Given the description of an element on the screen output the (x, y) to click on. 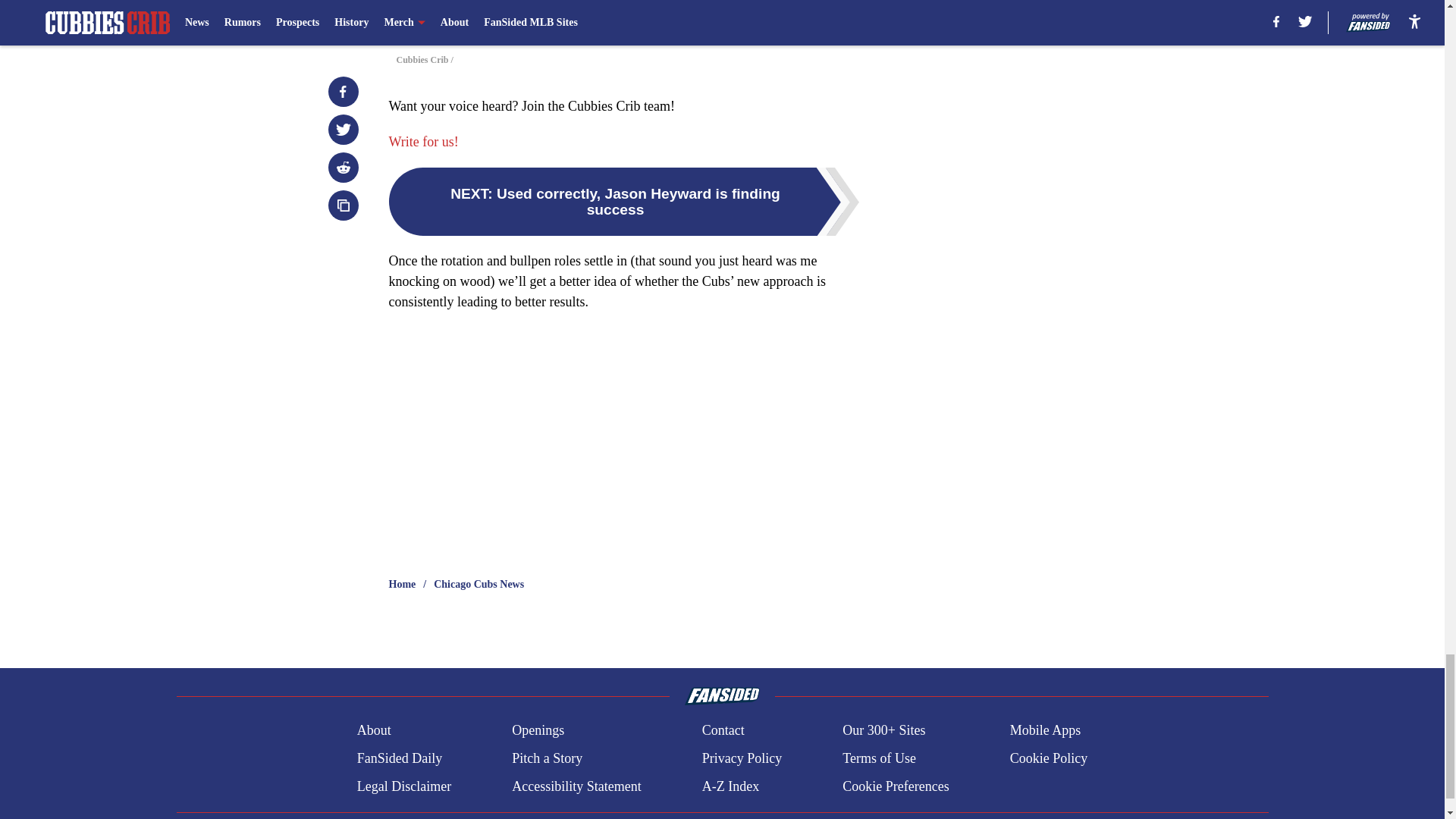
About (373, 730)
Contact (722, 730)
Openings (538, 730)
Chicago Cubs News (478, 584)
NEXT: Used correctly, Jason Heyward is finding success (623, 201)
Write for us! (423, 141)
Home (401, 584)
